Given the description of an element on the screen output the (x, y) to click on. 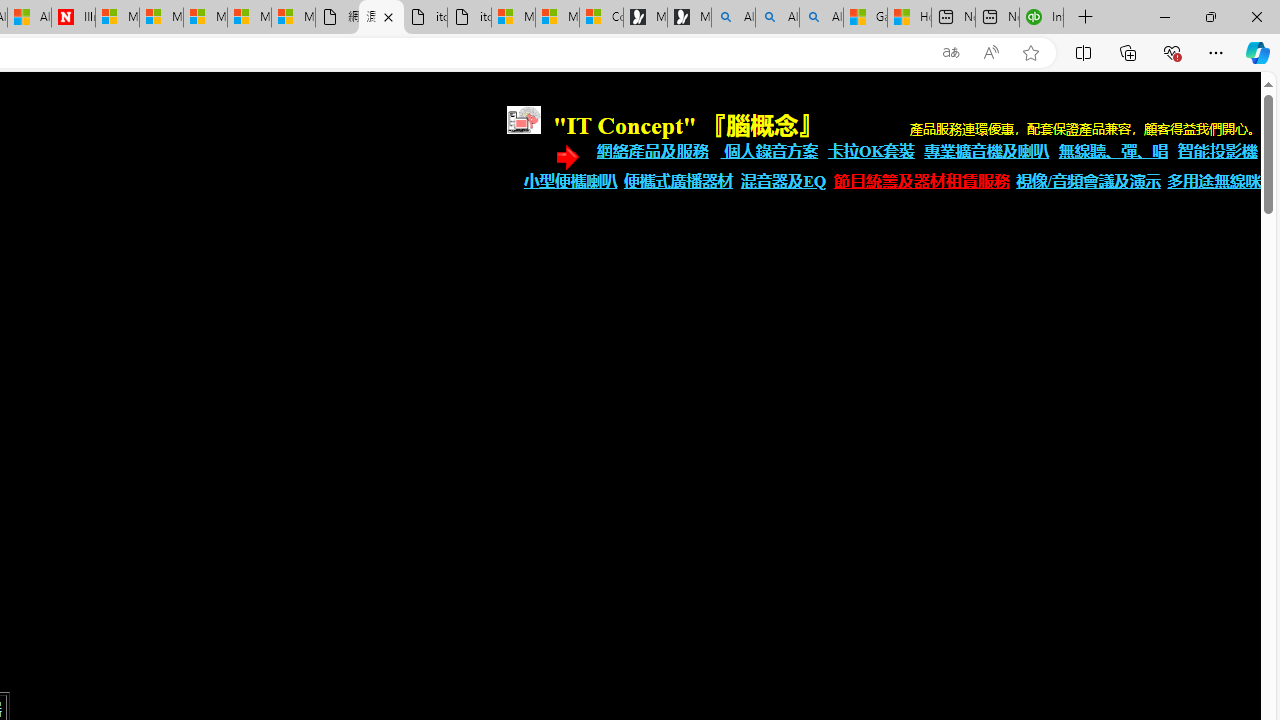
Microsoft Services Agreement (161, 17)
Alabama high school quarterback dies - Search Videos (821, 17)
Illness news & latest pictures from Newsweek.com (73, 17)
How to Use a TV as a Computer Monitor (909, 17)
